Given the description of an element on the screen output the (x, y) to click on. 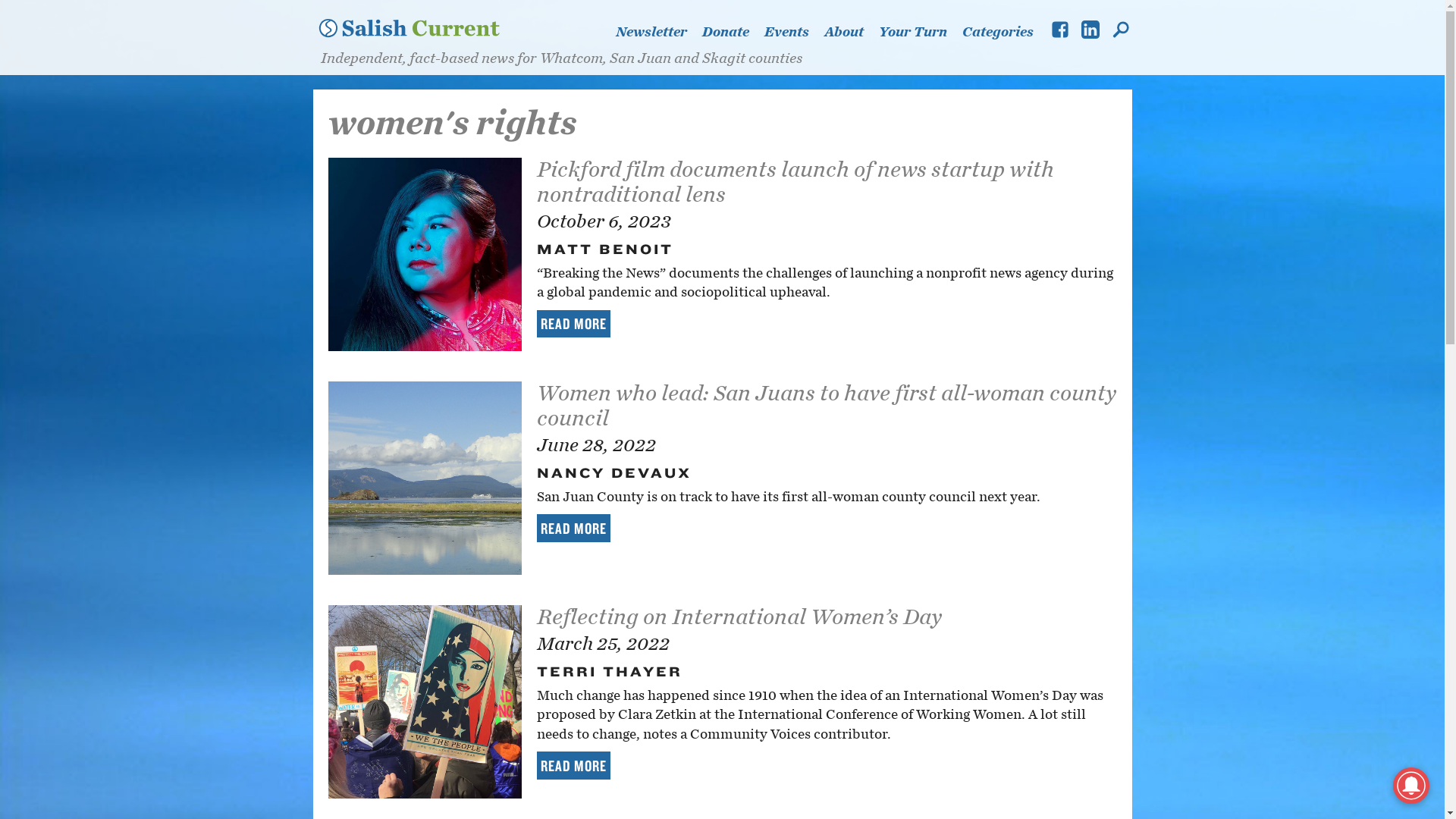
Categories (996, 31)
Newsletter (658, 31)
Your Turn (918, 31)
Donate (732, 31)
Events (794, 31)
About (850, 31)
